Given the description of an element on the screen output the (x, y) to click on. 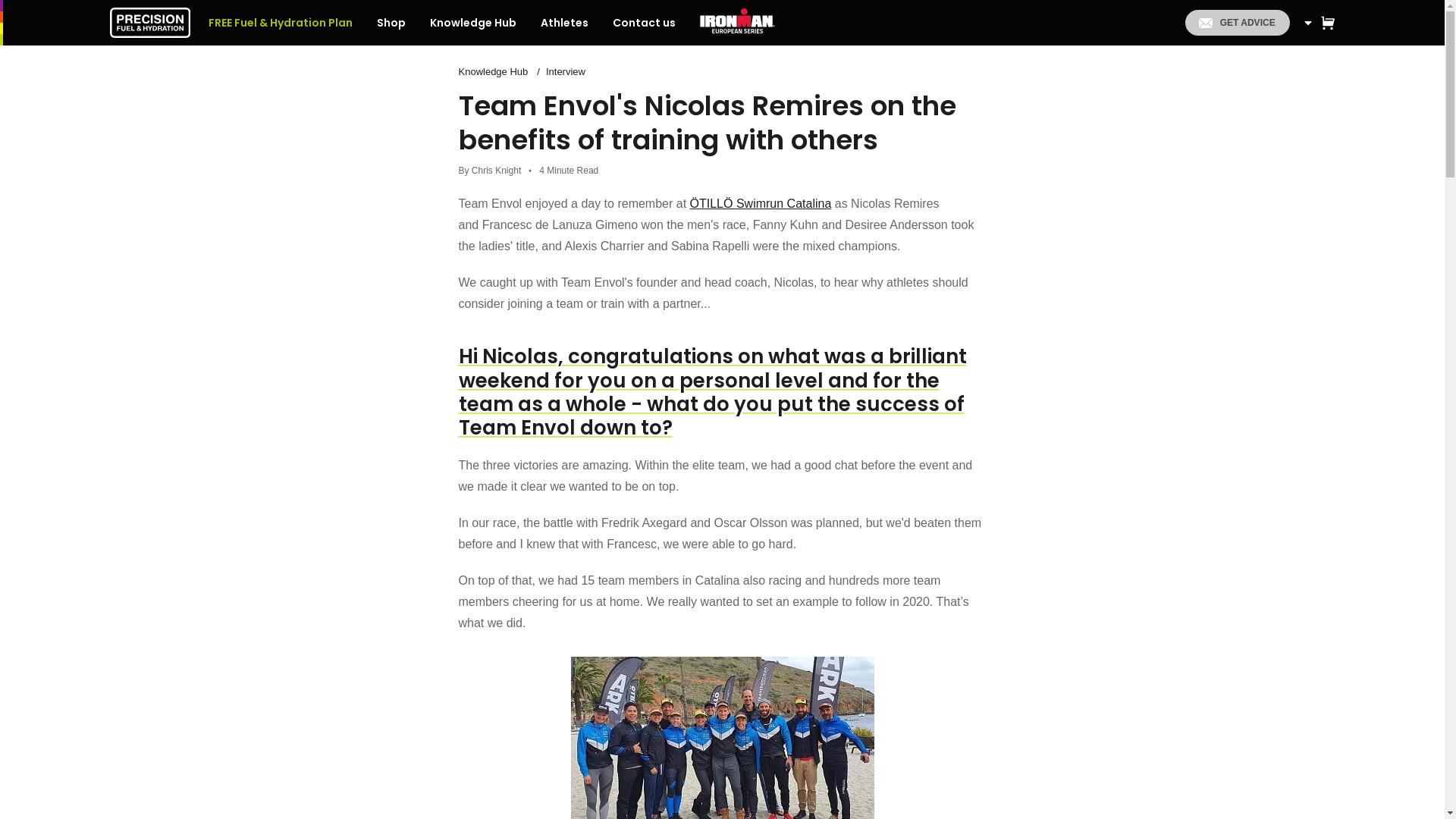
Shop (391, 22)
Knowledge Hub (492, 71)
GET ADVICE (1236, 22)
Knowledge Hub (472, 22)
Otillo Swimrun Catalina Results 2020 (760, 203)
Interview (565, 71)
Athletes (563, 22)
Contact us (643, 22)
